Given the description of an element on the screen output the (x, y) to click on. 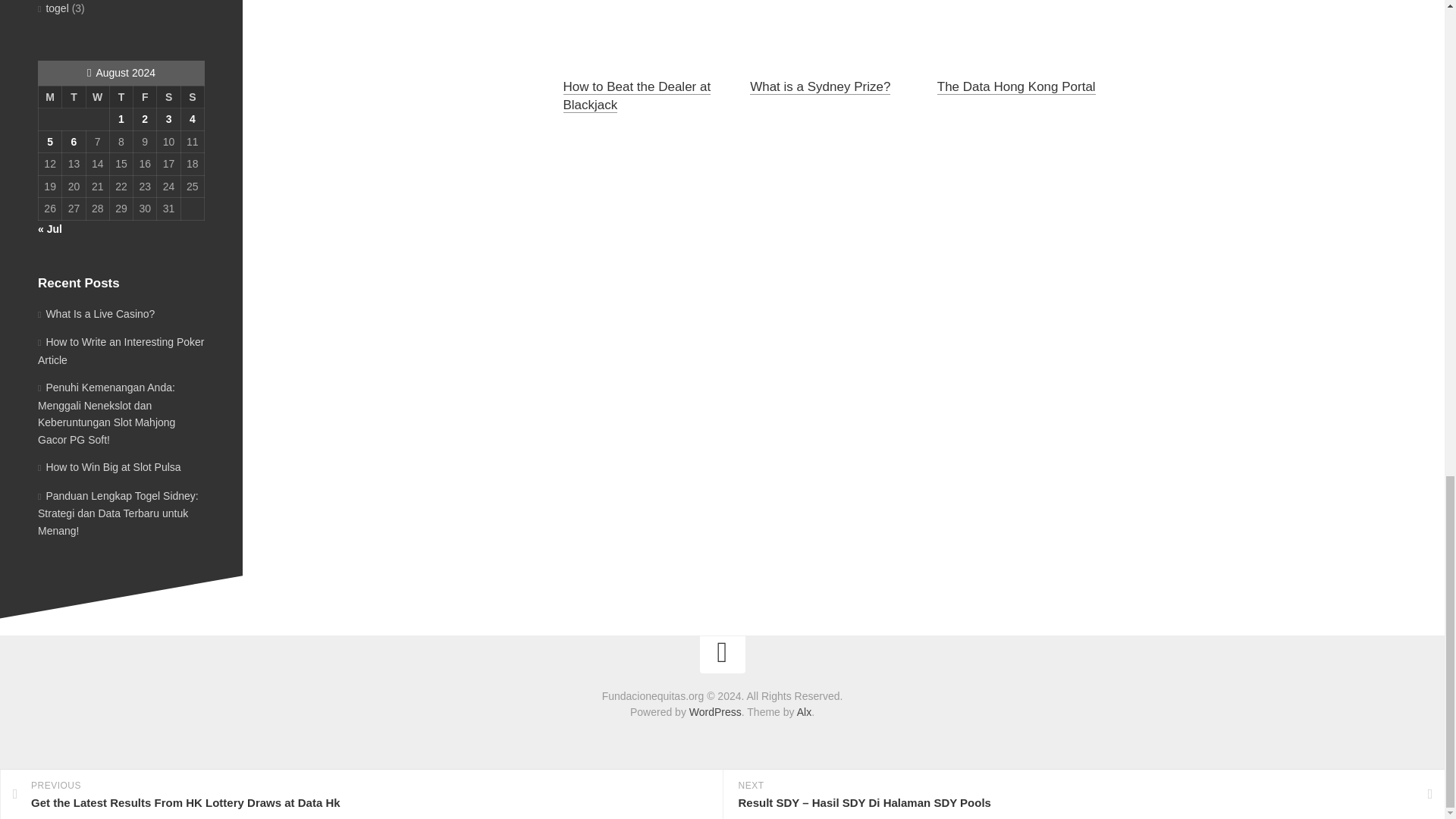
The Data Hong Kong Portal (1016, 86)
Thursday (120, 96)
Friday (145, 96)
Monday (49, 96)
How to Beat the Dealer at Blackjack (636, 95)
Sunday (191, 96)
What is a Sydney Prize? (819, 86)
Saturday (168, 96)
Wednesday (97, 96)
Tuesday (73, 96)
